Given the description of an element on the screen output the (x, y) to click on. 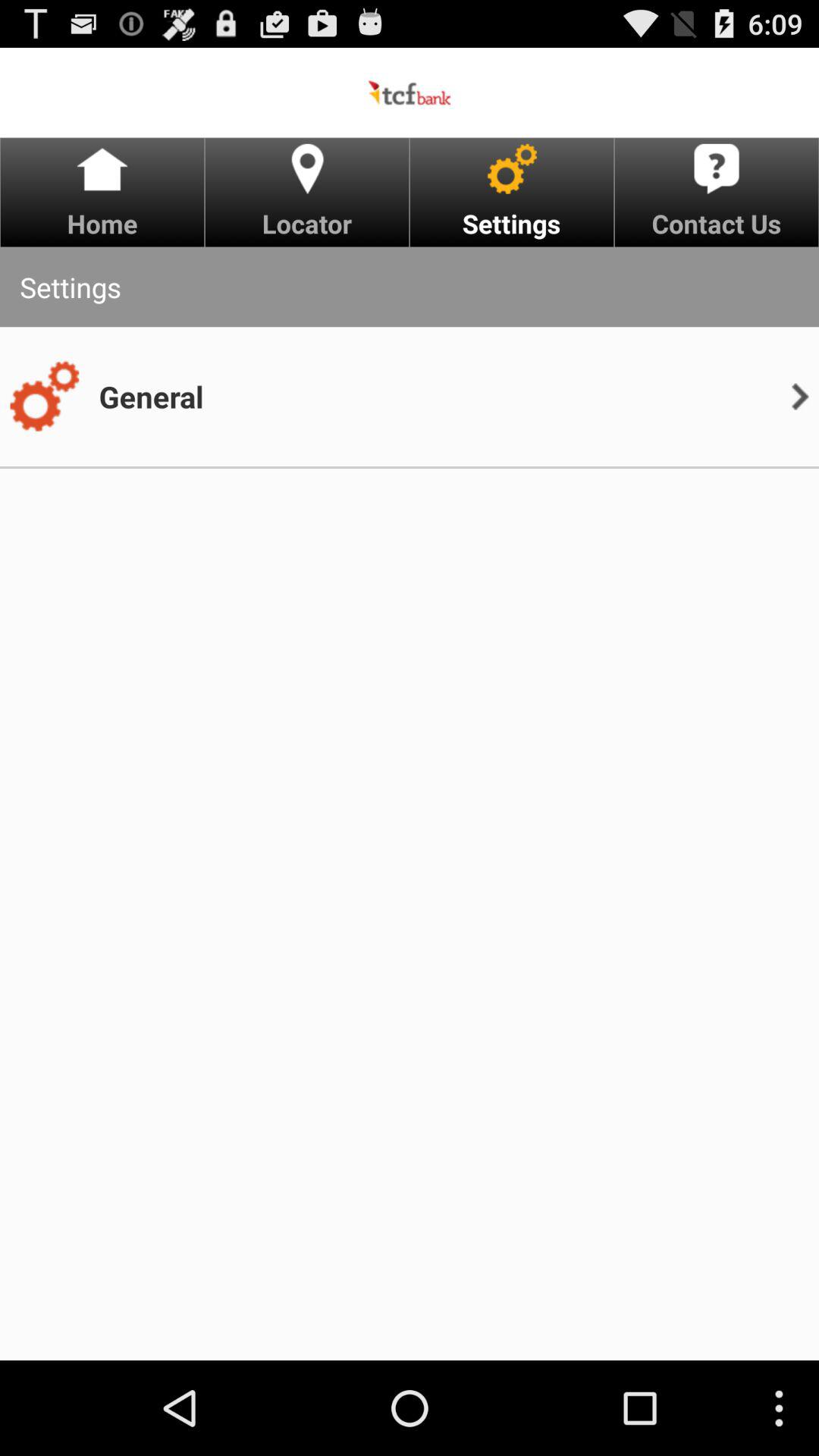
launch the item next to general icon (44, 396)
